Given the description of an element on the screen output the (x, y) to click on. 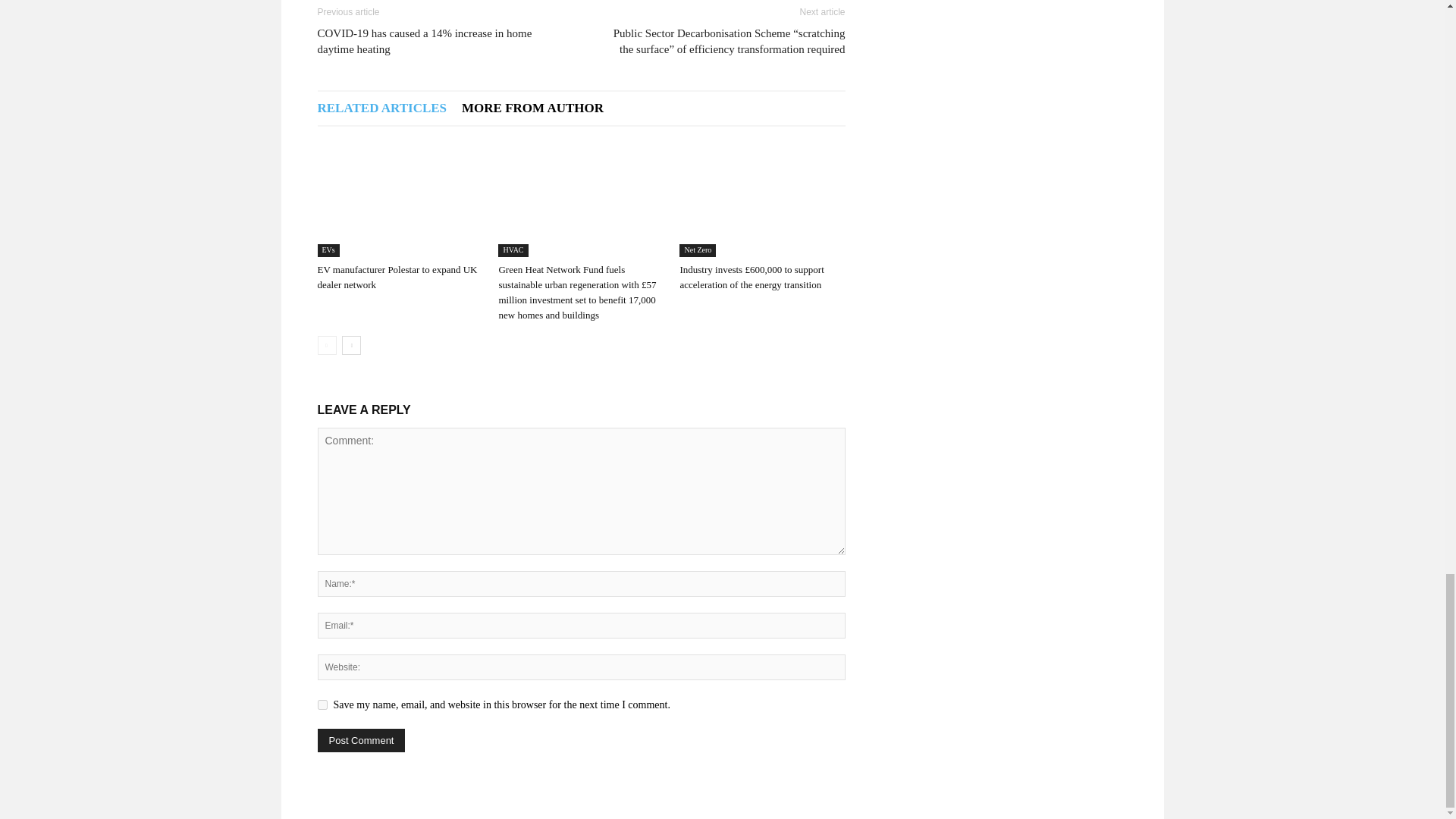
yes (321, 705)
EV manufacturer Polestar to expand UK dealer network (399, 200)
Post Comment (360, 740)
